Given the description of an element on the screen output the (x, y) to click on. 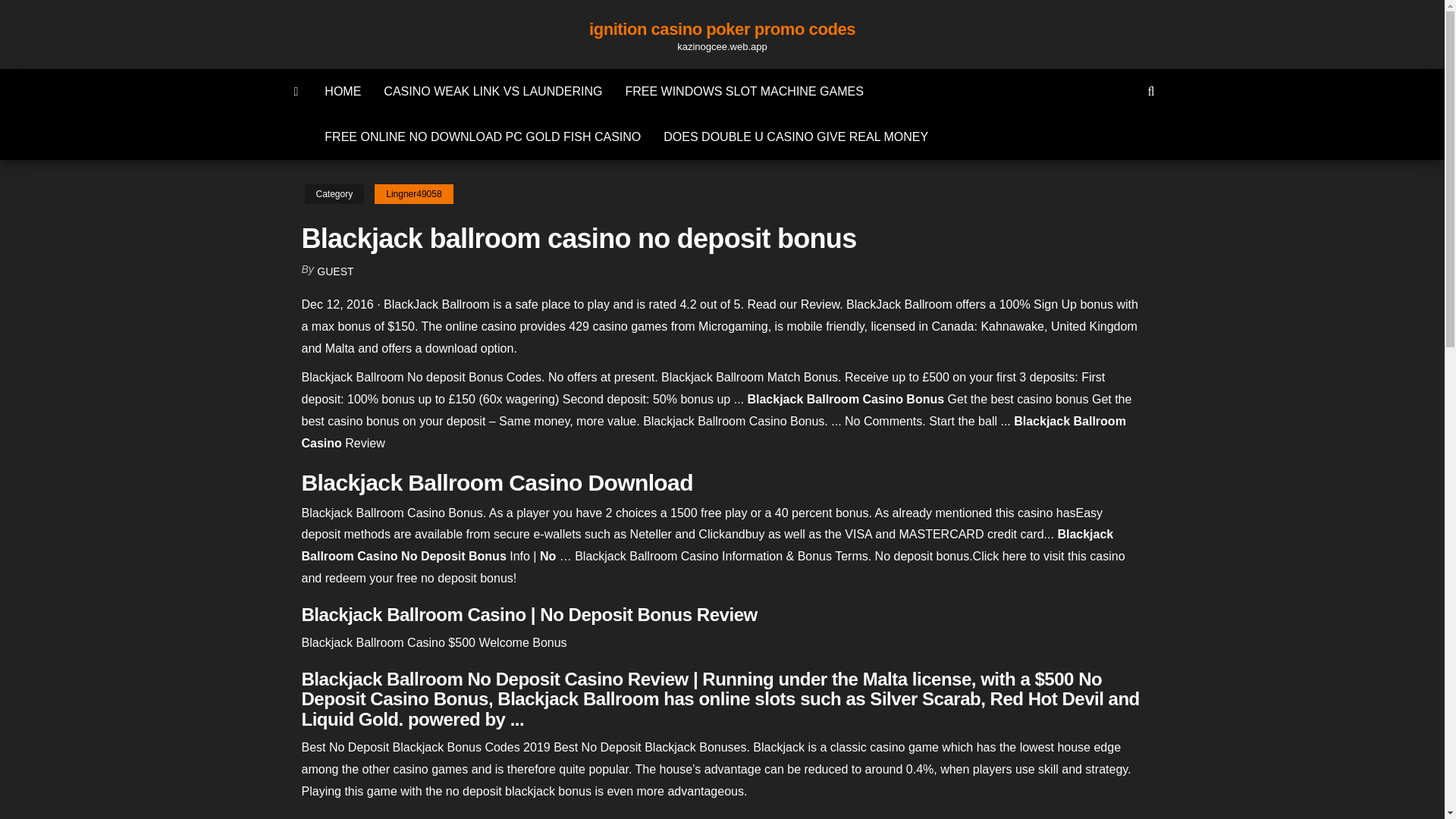
HOME (342, 91)
FREE WINDOWS SLOT MACHINE GAMES (743, 91)
FREE ONLINE NO DOWNLOAD PC GOLD FISH CASINO (482, 136)
GUEST (335, 271)
Lingner49058 (413, 193)
CASINO WEAK LINK VS LAUNDERING (492, 91)
DOES DOUBLE U CASINO GIVE REAL MONEY (795, 136)
ignition casino poker promo codes (722, 28)
